Given the description of an element on the screen output the (x, y) to click on. 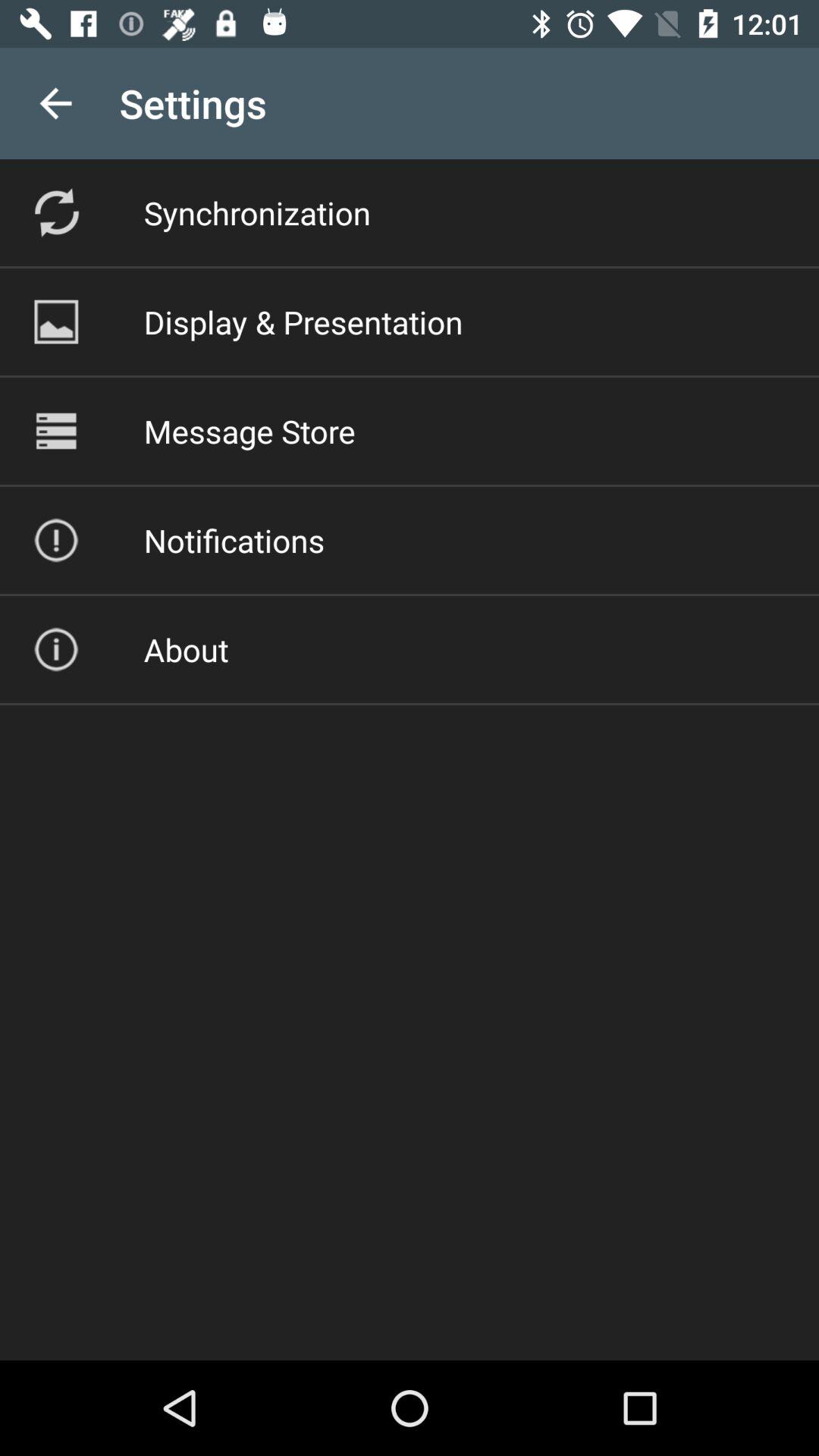
press the about (185, 649)
